Given the description of an element on the screen output the (x, y) to click on. 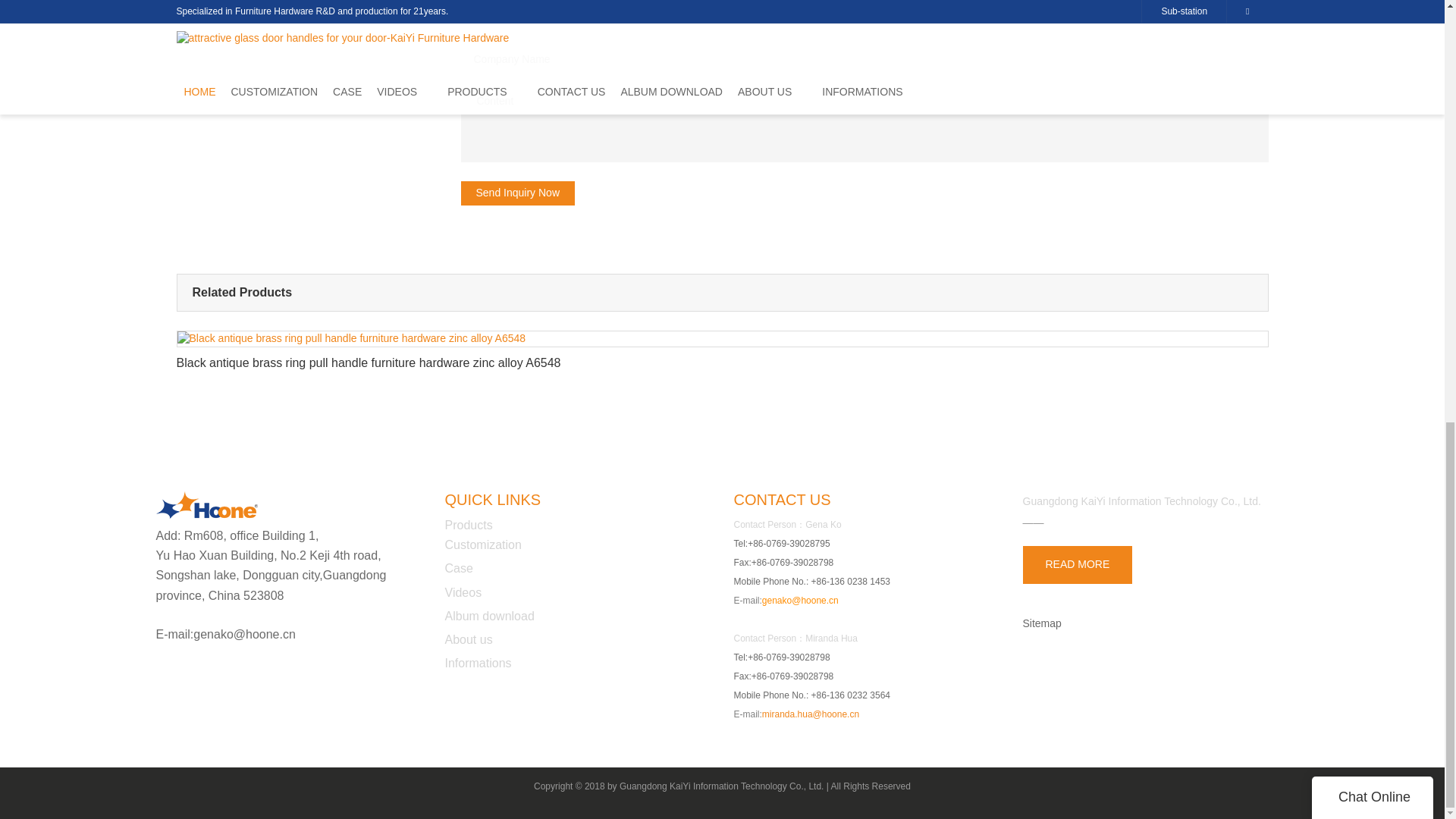
ase (462, 567)
Customization (482, 544)
Send Inquiry Now (518, 192)
Products (468, 524)
